Given the description of an element on the screen output the (x, y) to click on. 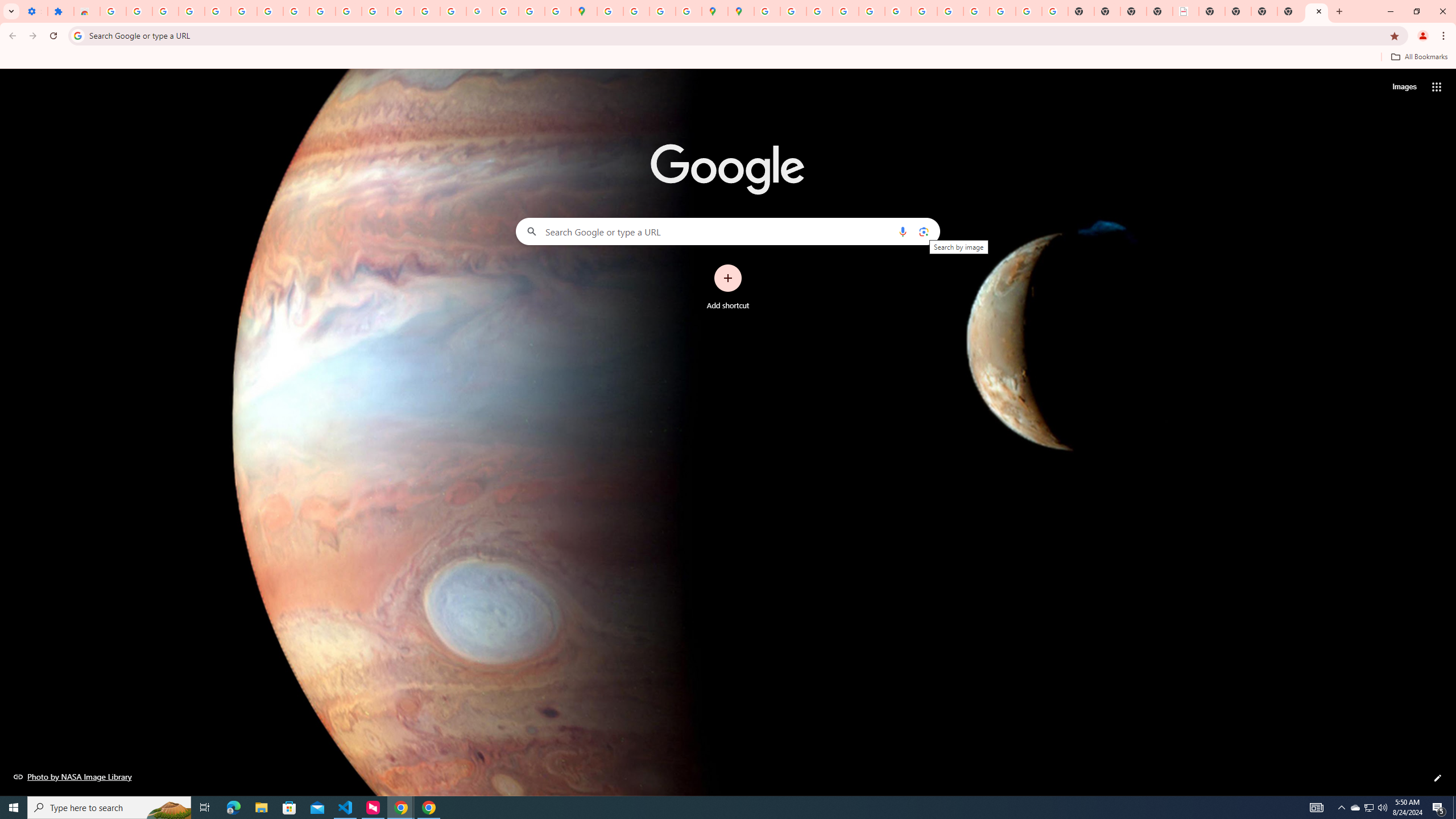
Reviews: Helix Fruit Jump Arcade Game (86, 11)
Search for Images  (1403, 87)
New Tab (1316, 11)
Learn how to find your photos - Google Photos Help (191, 11)
Google Account (296, 11)
Bookmarks (728, 58)
Add shortcut (727, 287)
Privacy Help Center - Policies Help (845, 11)
